Given the description of an element on the screen output the (x, y) to click on. 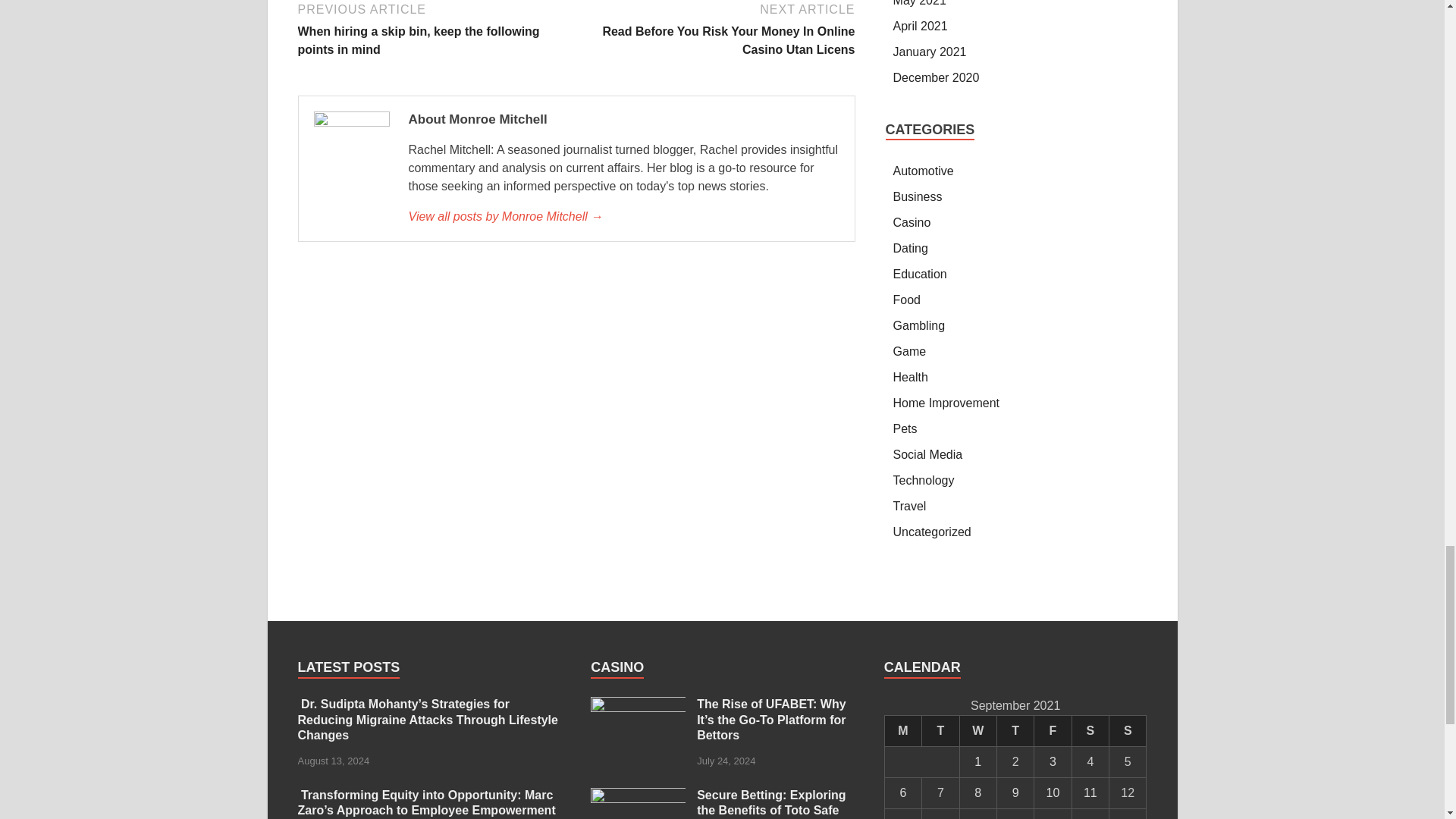
Monday (902, 730)
Monroe Mitchell (622, 217)
Tuesday (940, 730)
